Given the description of an element on the screen output the (x, y) to click on. 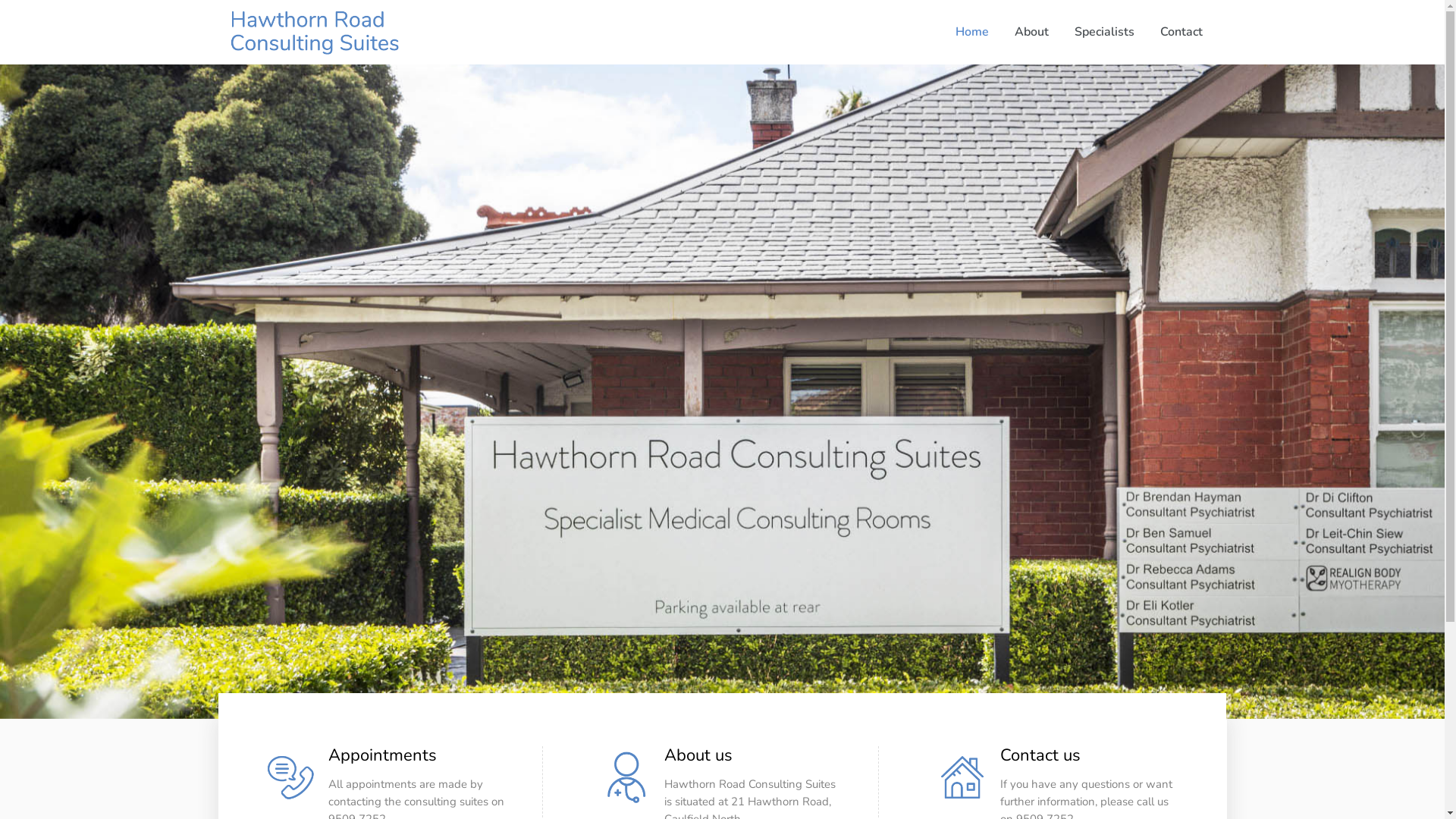
Contact Element type: text (1180, 32)
Specialists Element type: text (1104, 32)
Home Element type: text (971, 32)
About Element type: text (1030, 32)
